Given the description of an element on the screen output the (x, y) to click on. 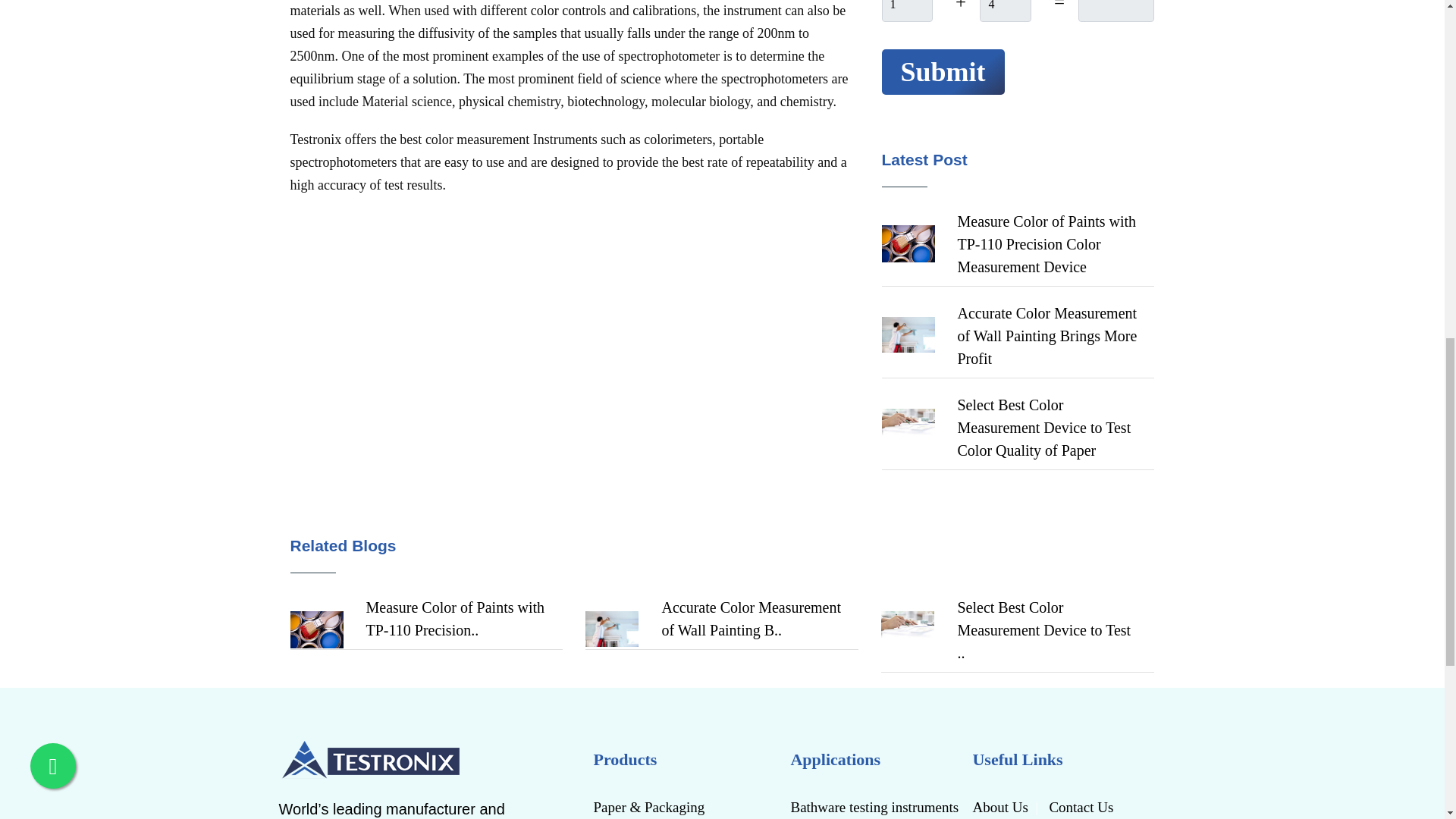
7 (905, 11)
Submit (942, 72)
Measure Color of Paints with TP-110 Precision.. (750, 618)
8 (1004, 11)
Bathware testing instruments (875, 806)
Accurate Color Measurement of Wall Painting B.. (454, 618)
Applications (875, 759)
Select Best Color Measurement Device to Test .. (1043, 629)
